Given the description of an element on the screen output the (x, y) to click on. 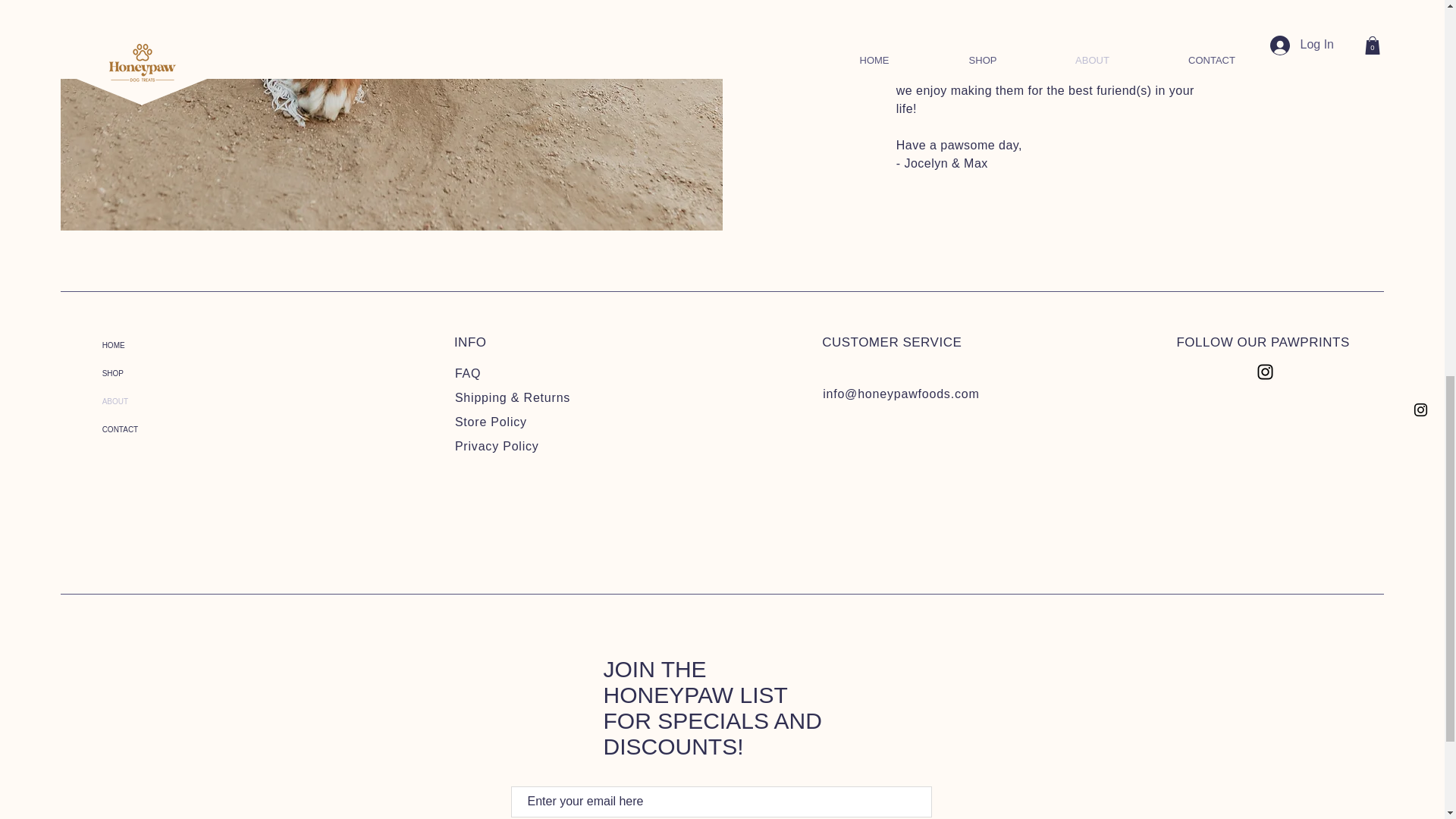
Privacy Policy (496, 445)
Store Policy (490, 421)
HOME (166, 345)
ABOUT (166, 401)
FAQ (467, 373)
SHOP (166, 373)
CONTACT (166, 429)
